Given the description of an element on the screen output the (x, y) to click on. 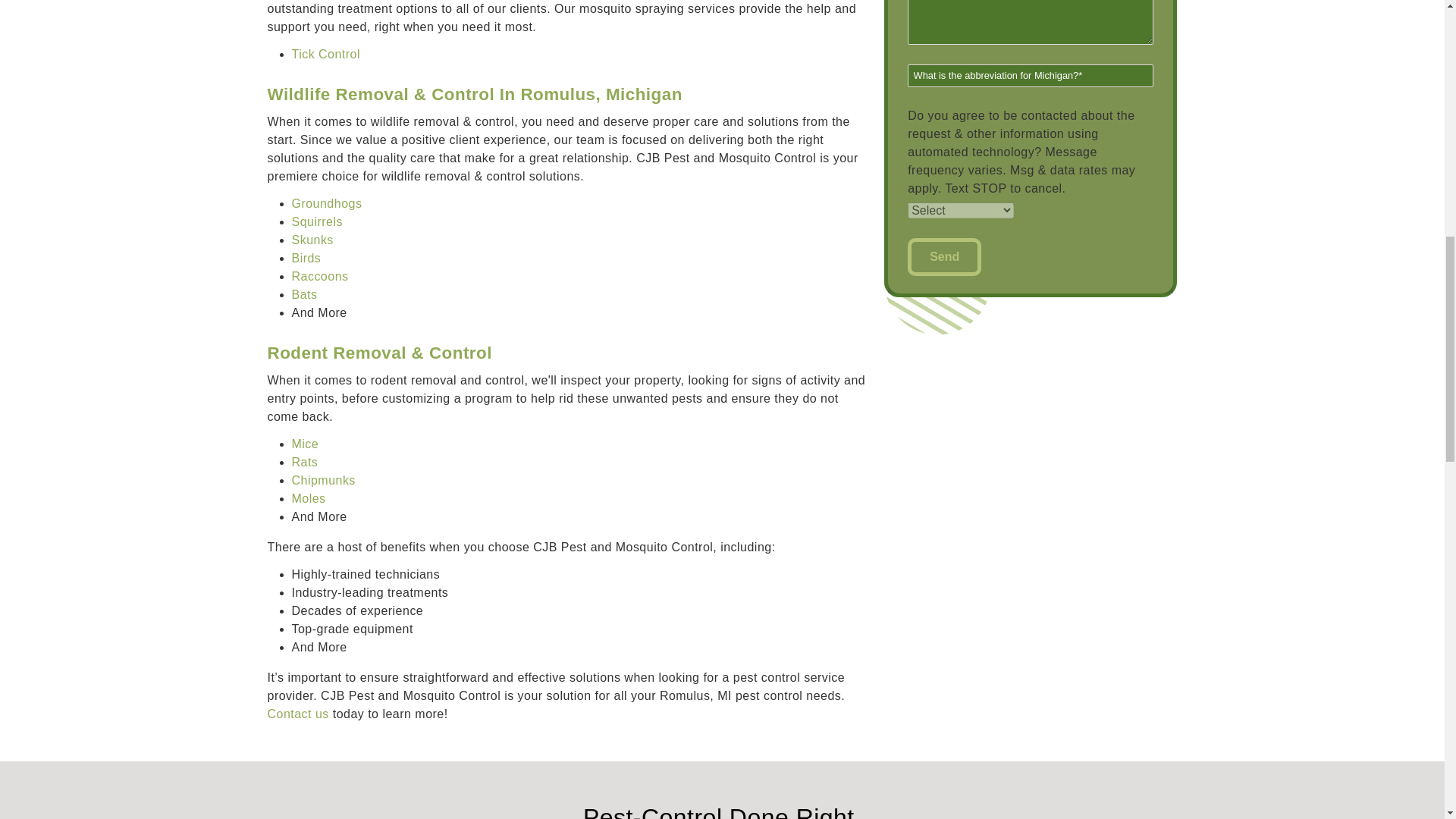
Send (944, 257)
